Given the description of an element on the screen output the (x, y) to click on. 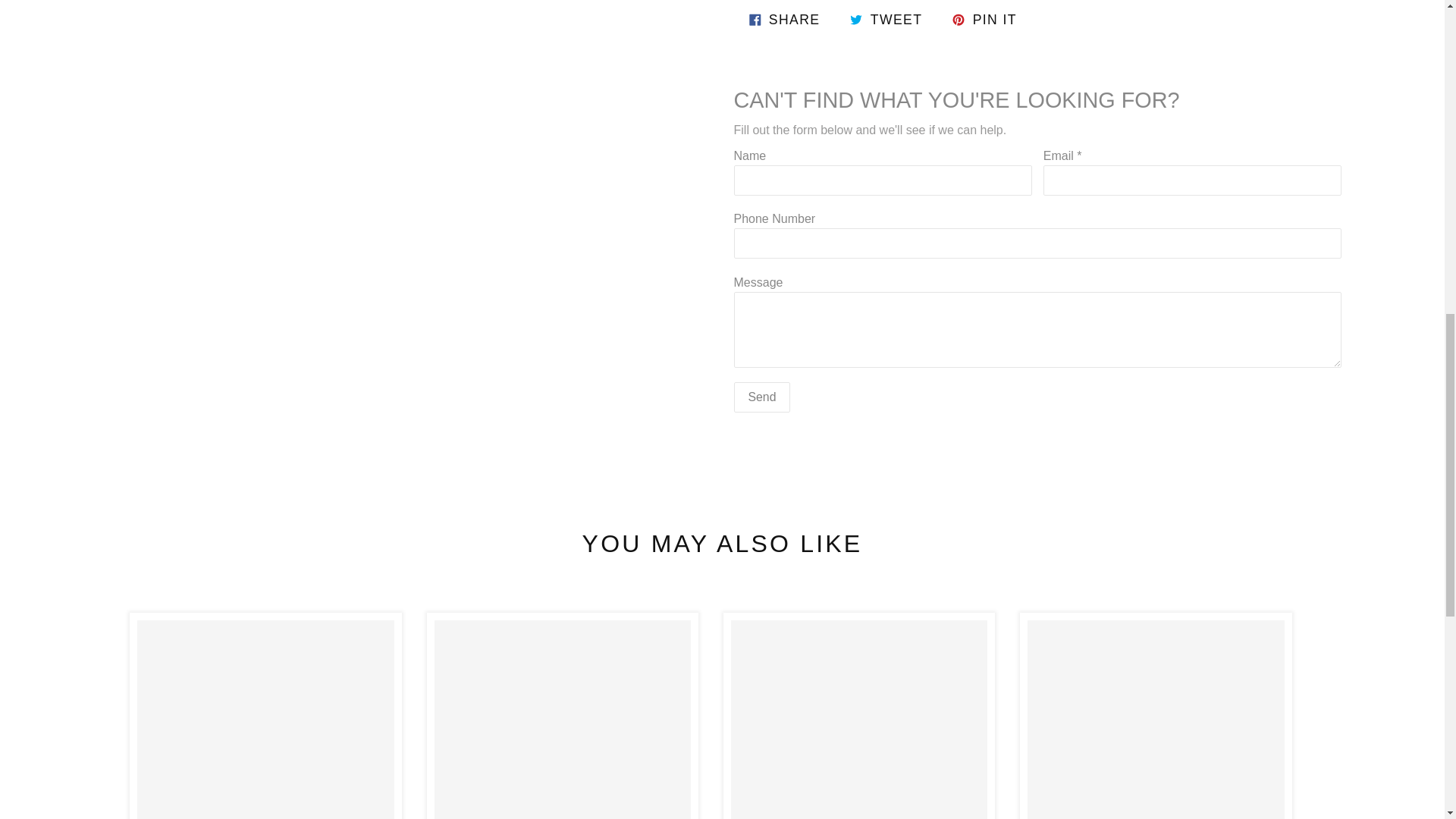
Send (761, 397)
